Given the description of an element on the screen output the (x, y) to click on. 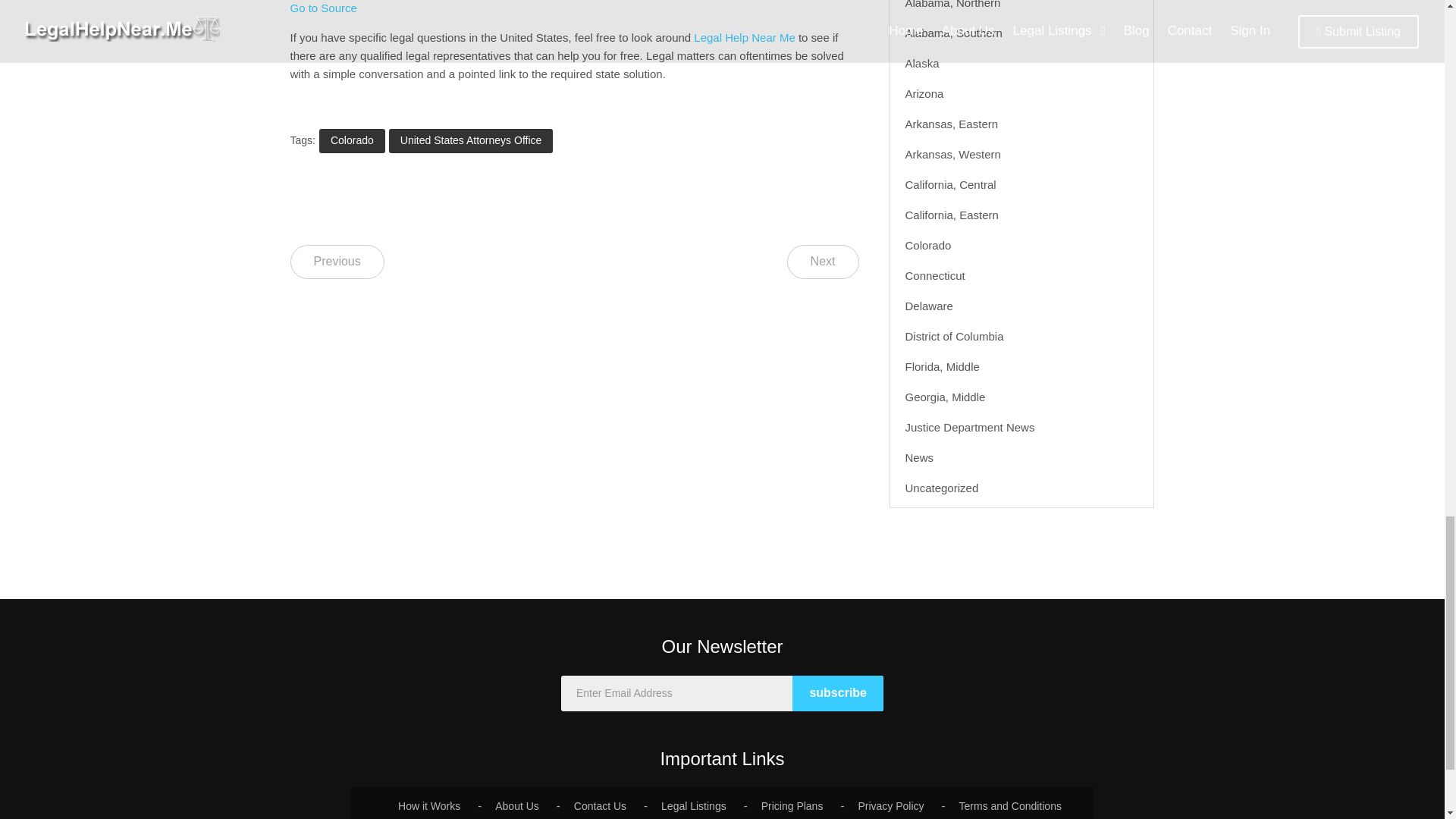
United States Attorneys Office (470, 140)
Next (823, 261)
Legal Help Near Me (744, 37)
Previous (336, 261)
Colorado (351, 140)
Go to Source (322, 7)
subscribe (837, 693)
